Given the description of an element on the screen output the (x, y) to click on. 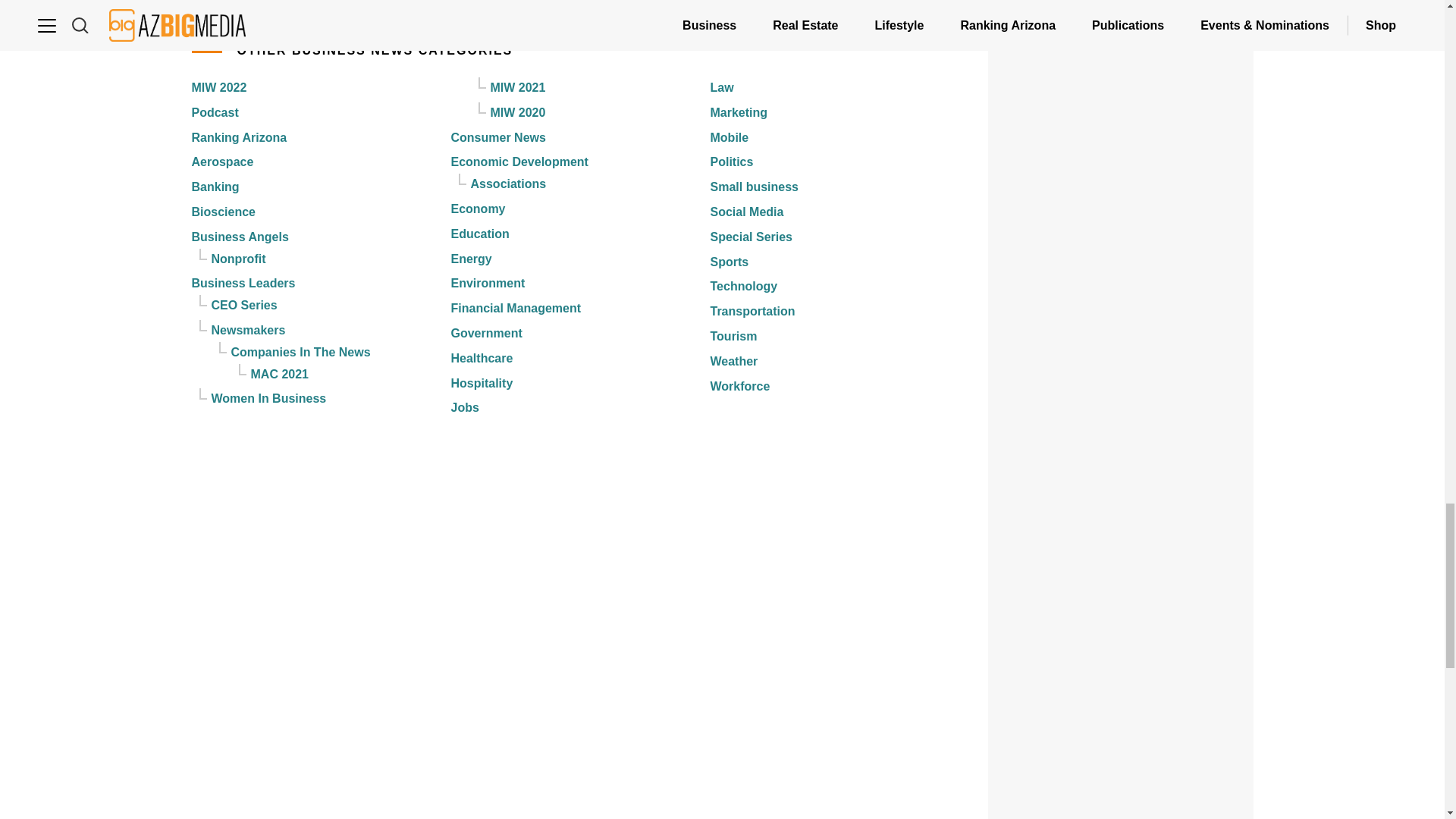
3rd party ad content (1120, 737)
3rd party ad content (1120, 543)
3rd party ad content (1120, 185)
